Given the description of an element on the screen output the (x, y) to click on. 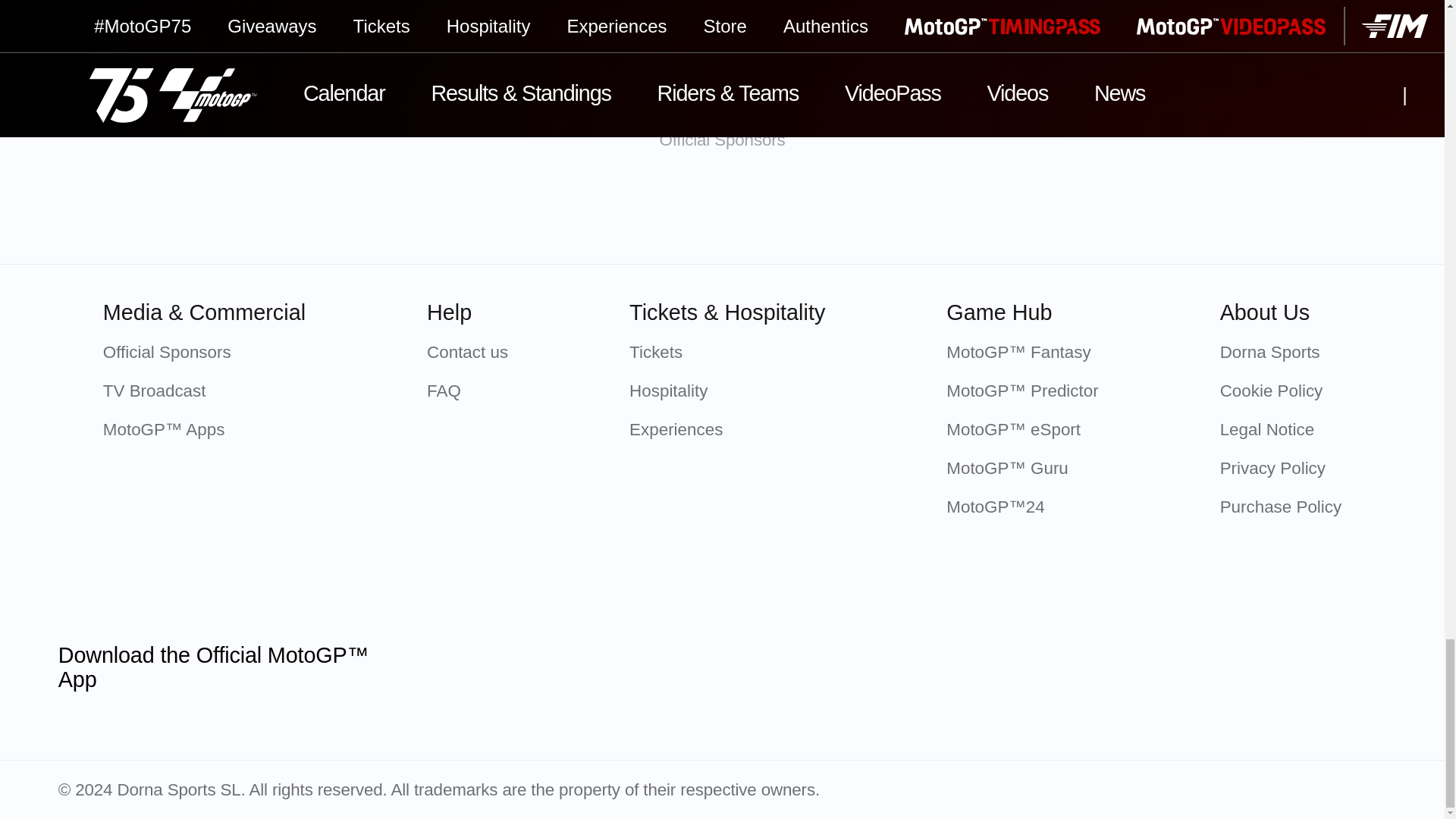
DHL (1122, 211)
QATAR (321, 211)
MICHELIN (642, 211)
BMW M (802, 211)
TISSOT (481, 211)
ESTRELLA GALICIA (962, 211)
App Store (465, 667)
